Given the description of an element on the screen output the (x, y) to click on. 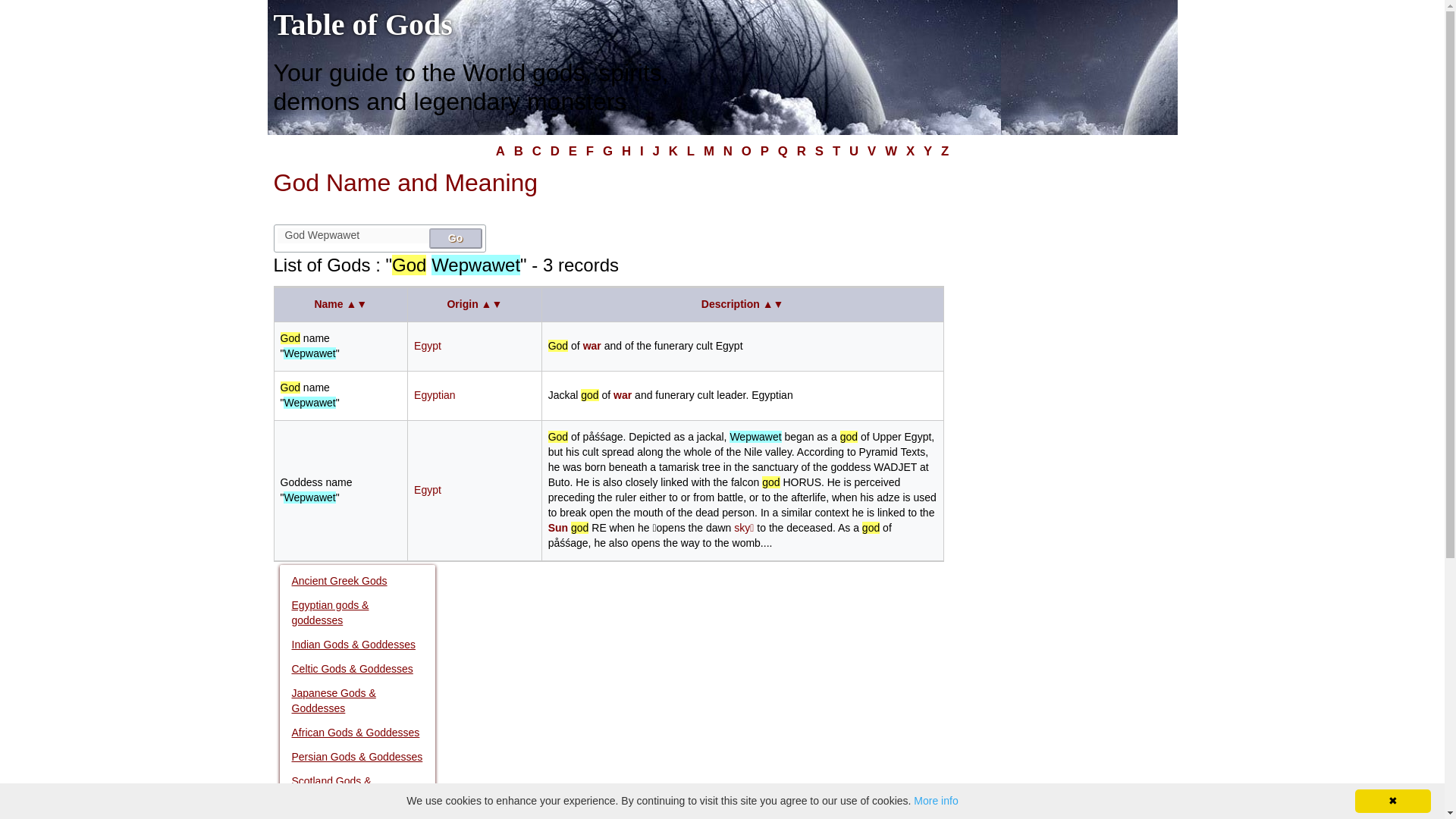
Table of Gods (362, 24)
God Wepwawet (353, 235)
sky (743, 527)
